Given the description of an element on the screen output the (x, y) to click on. 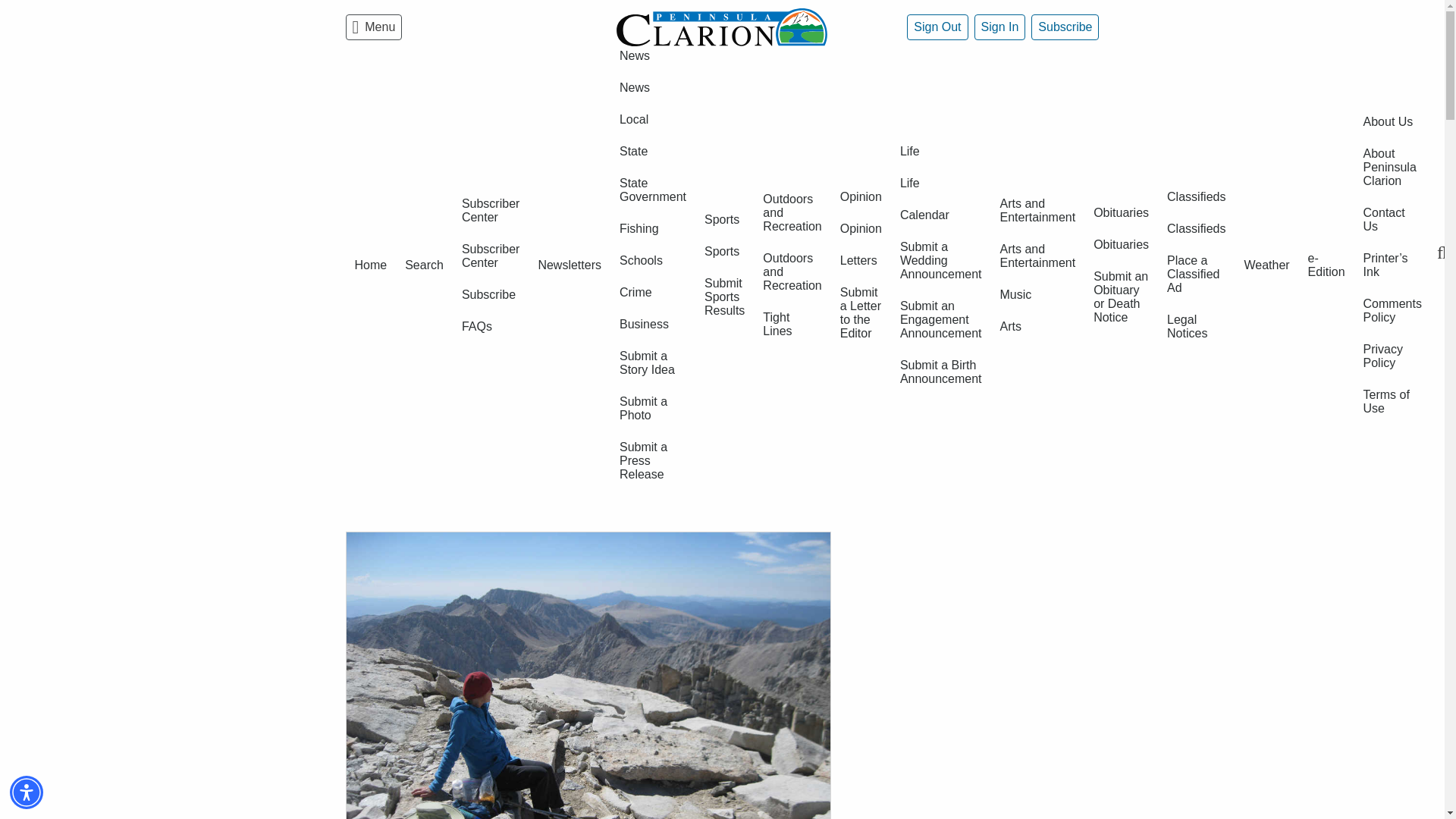
Accessibility Menu (26, 792)
